Given the description of an element on the screen output the (x, y) to click on. 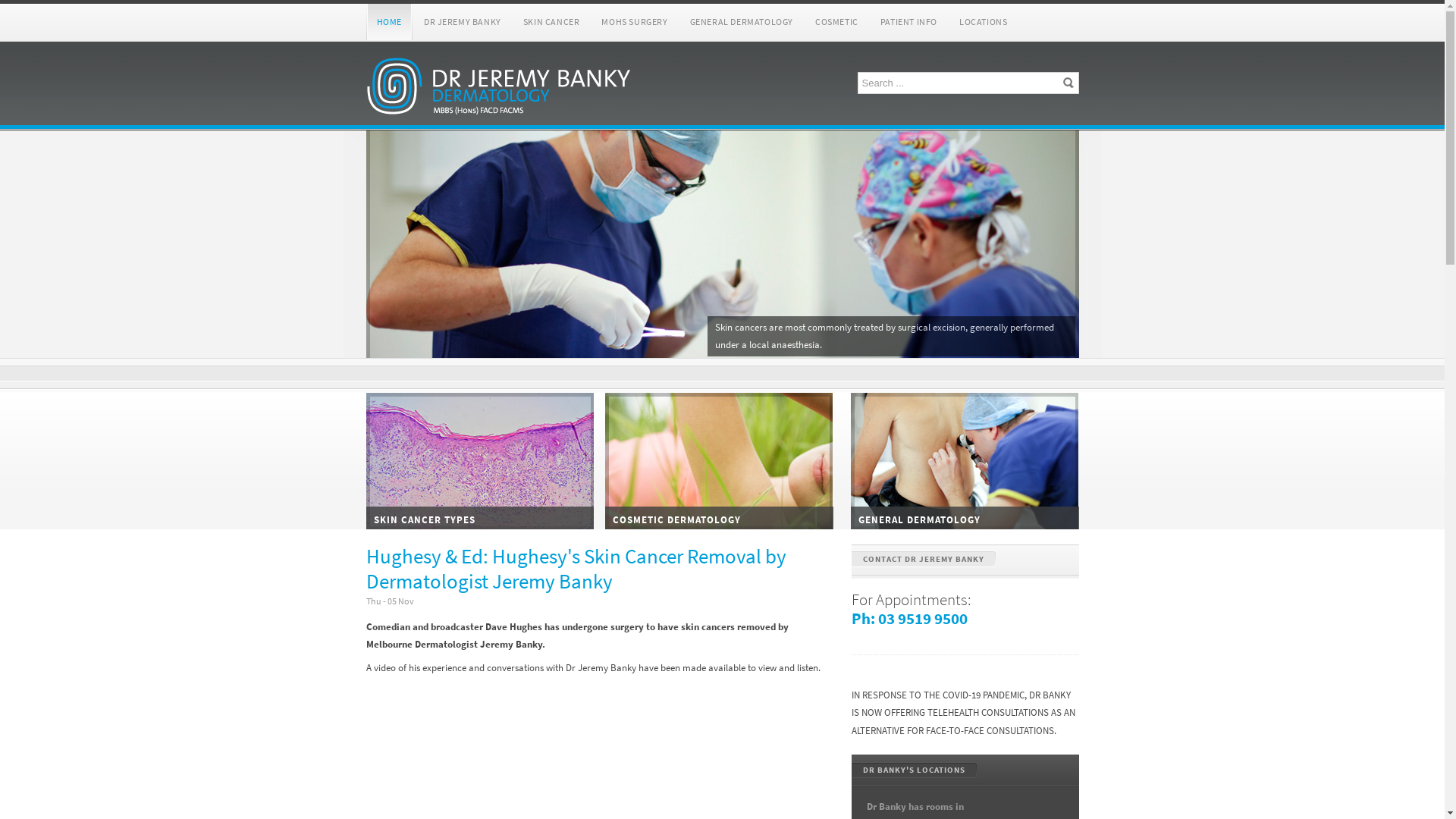
Ph: 03 9519 9500 Element type: text (908, 618)
LOCATIONS Element type: text (982, 21)
Dr Jeremy Banky, Specialist Dermatologist, Melbourne Element type: hover (497, 87)
GENERAL DERMATOLOGY Element type: text (741, 21)
COSMETIC Element type: text (836, 21)
HOME Element type: text (388, 21)
MOHS SURGERY Element type: text (633, 21)
DR JEREMY BANKY Element type: text (462, 21)
PATIENT INFO Element type: text (908, 21)
SKIN CANCER Element type: text (551, 21)
